Given the description of an element on the screen output the (x, y) to click on. 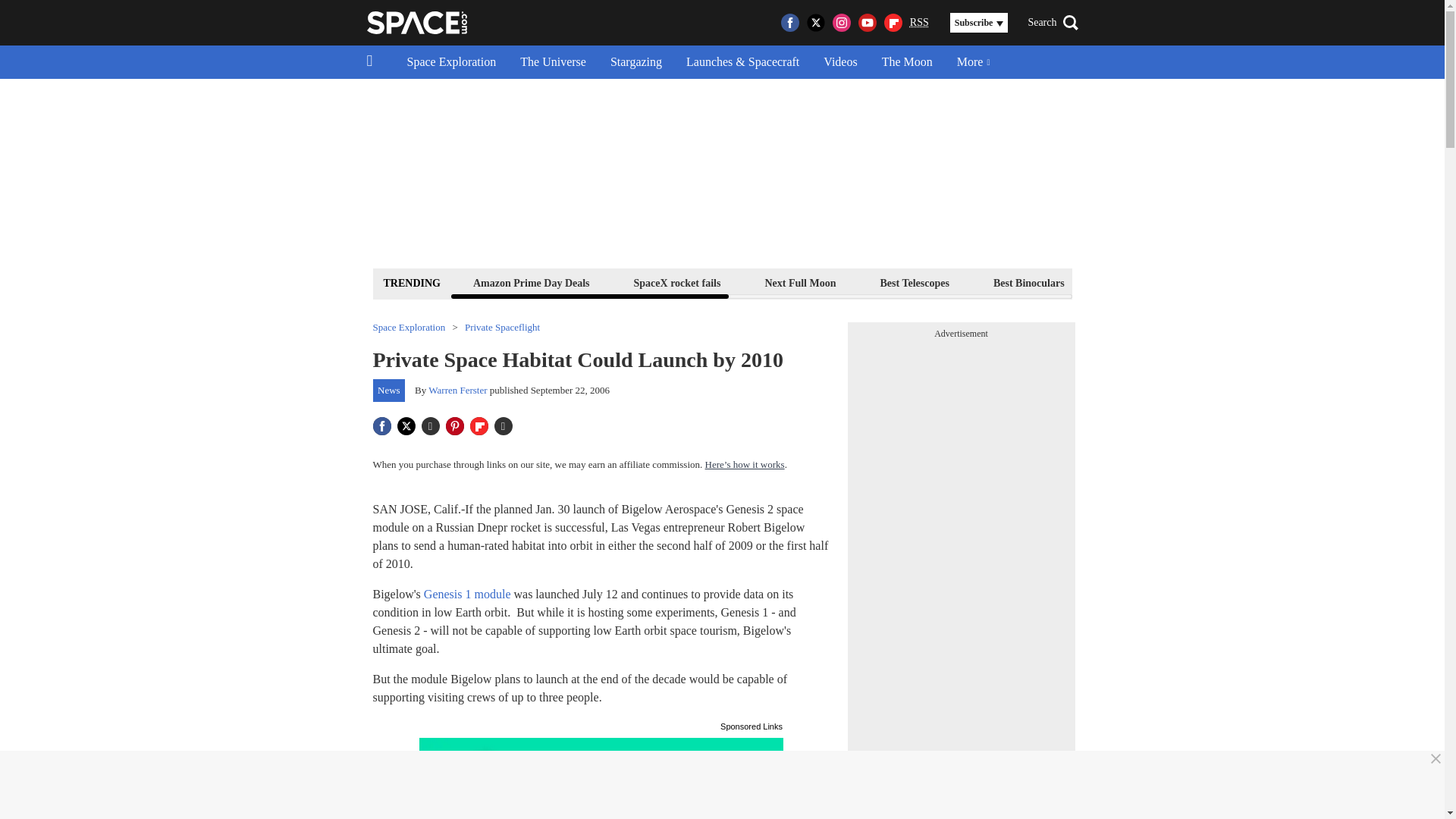
Best Star Projectors (1154, 282)
RSS (919, 22)
What is your writing missing? (601, 778)
Stargazing (636, 61)
Really Simple Syndication (919, 21)
Amazon Prime Day Deals (531, 282)
Best Telescopes (915, 282)
Videos (839, 61)
Space Exploration (451, 61)
Next Full Moon (799, 282)
SpaceX rocket fails (677, 282)
